Given the description of an element on the screen output the (x, y) to click on. 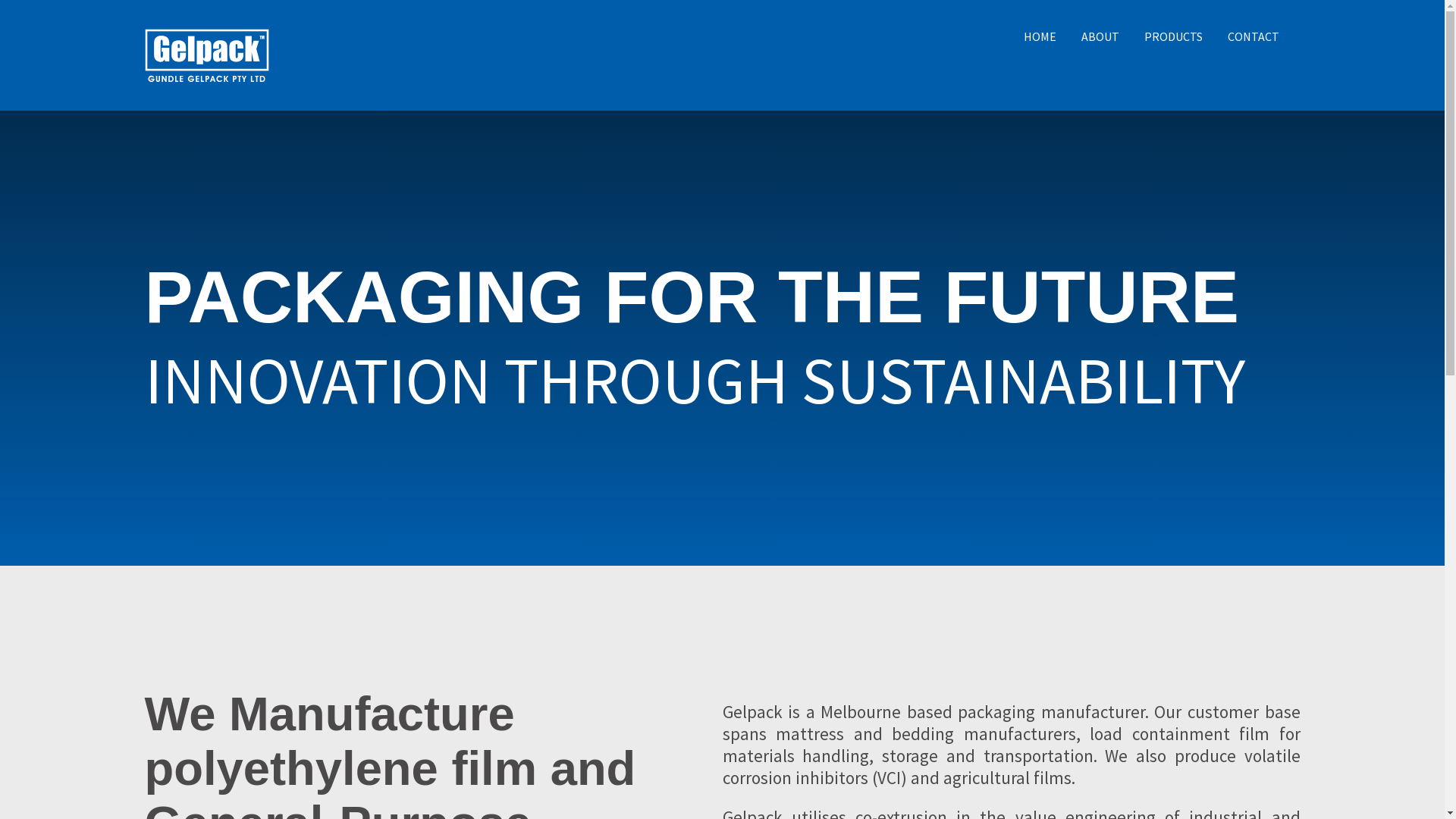
Gelpack Element type: text (432, 54)
ABOUT Element type: text (1100, 35)
PRODUCTS Element type: text (1172, 35)
HOME Element type: text (1039, 35)
CONTACT Element type: text (1252, 35)
